Given the description of an element on the screen output the (x, y) to click on. 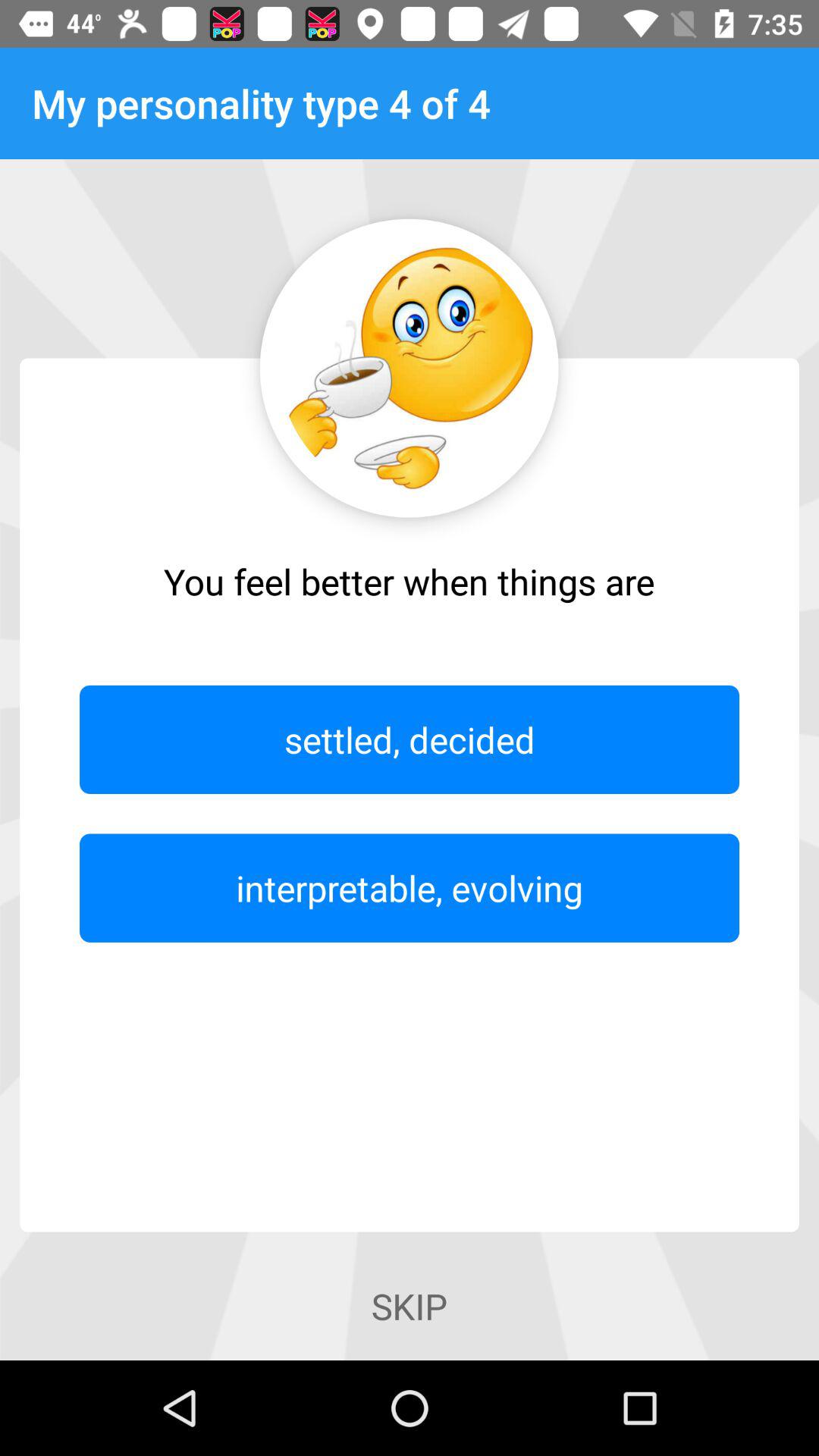
swipe until interpretable, evolving (409, 887)
